Given the description of an element on the screen output the (x, y) to click on. 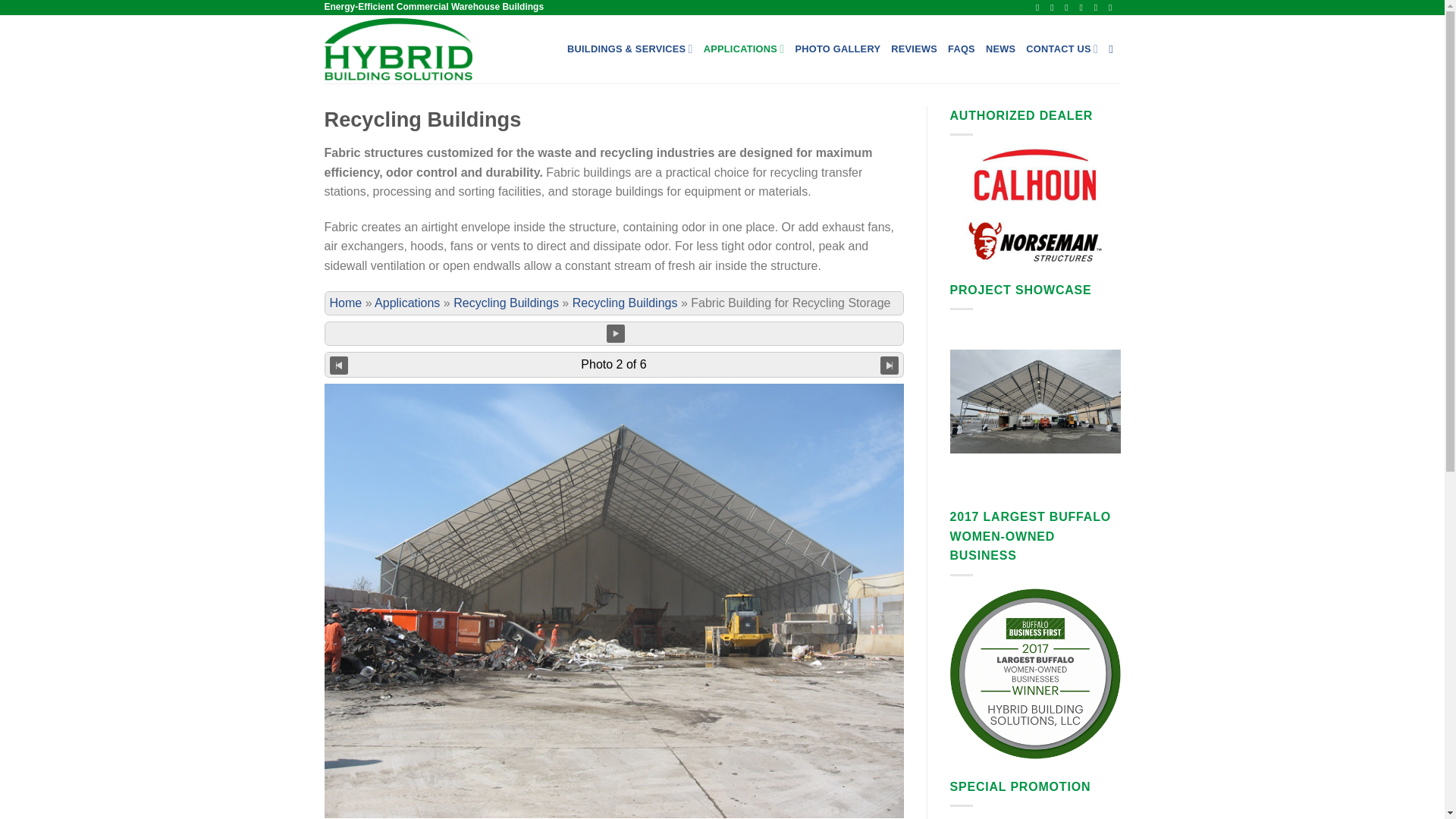
PHOTO GALLERY (837, 49)
NEWS (999, 49)
APPLICATIONS (743, 48)
REVIEWS (914, 49)
FAQS (961, 49)
